Given the description of an element on the screen output the (x, y) to click on. 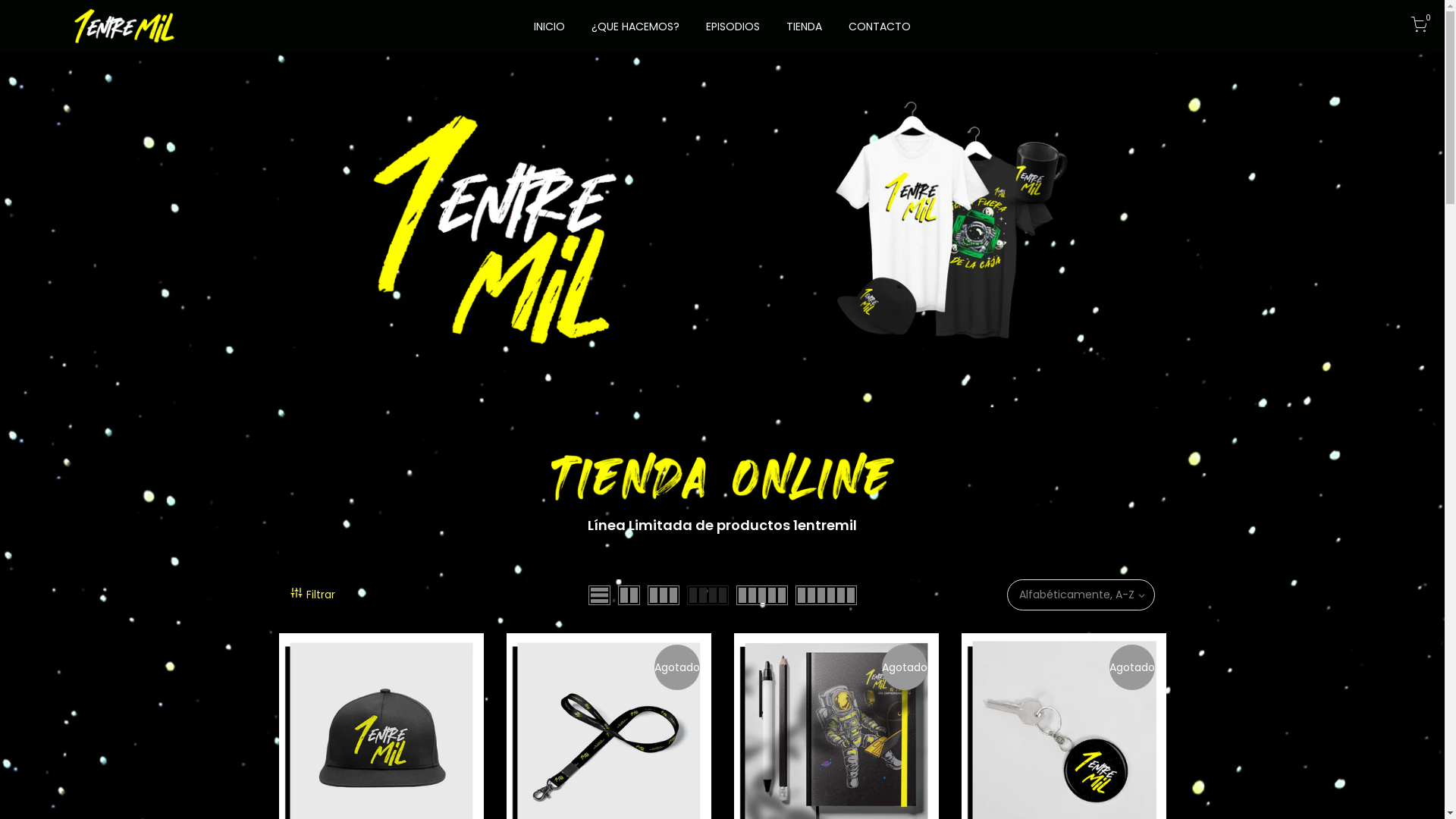
INICIO Element type: text (548, 26)
EPISODIOS Element type: text (733, 26)
CONTACTO Element type: text (879, 26)
Filtrar Element type: text (426, 594)
0 Element type: text (1418, 26)
TIENDA Element type: text (804, 26)
